Given the description of an element on the screen output the (x, y) to click on. 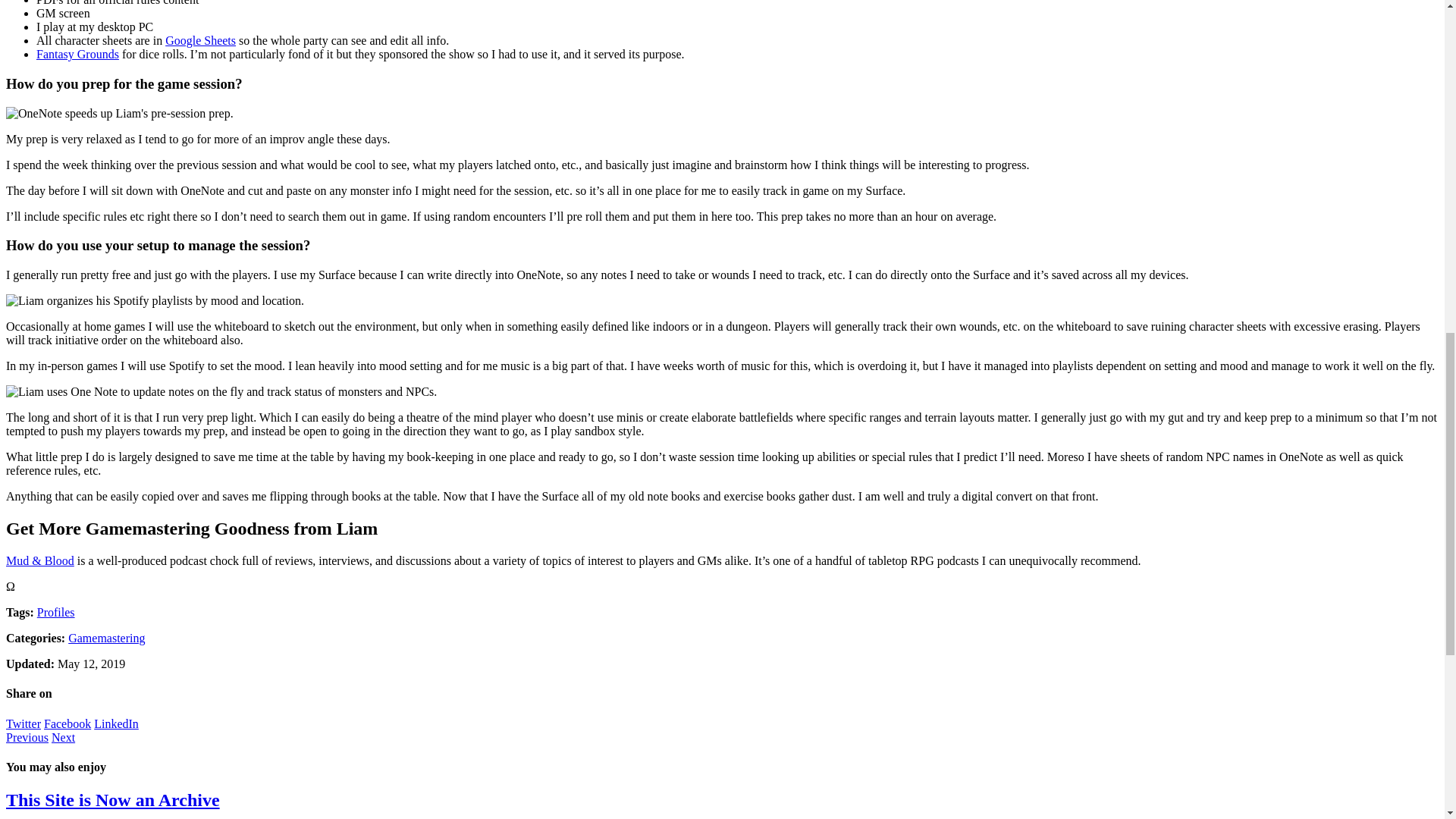
Fantasy Grounds (77, 53)
Google Sheets (200, 40)
Profiles (56, 612)
Next (62, 737)
Gamemastering (106, 637)
Twitter (62, 737)
Facebook (22, 723)
Share on Facebook (66, 723)
Share on LinkedIn (66, 723)
